Given the description of an element on the screen output the (x, y) to click on. 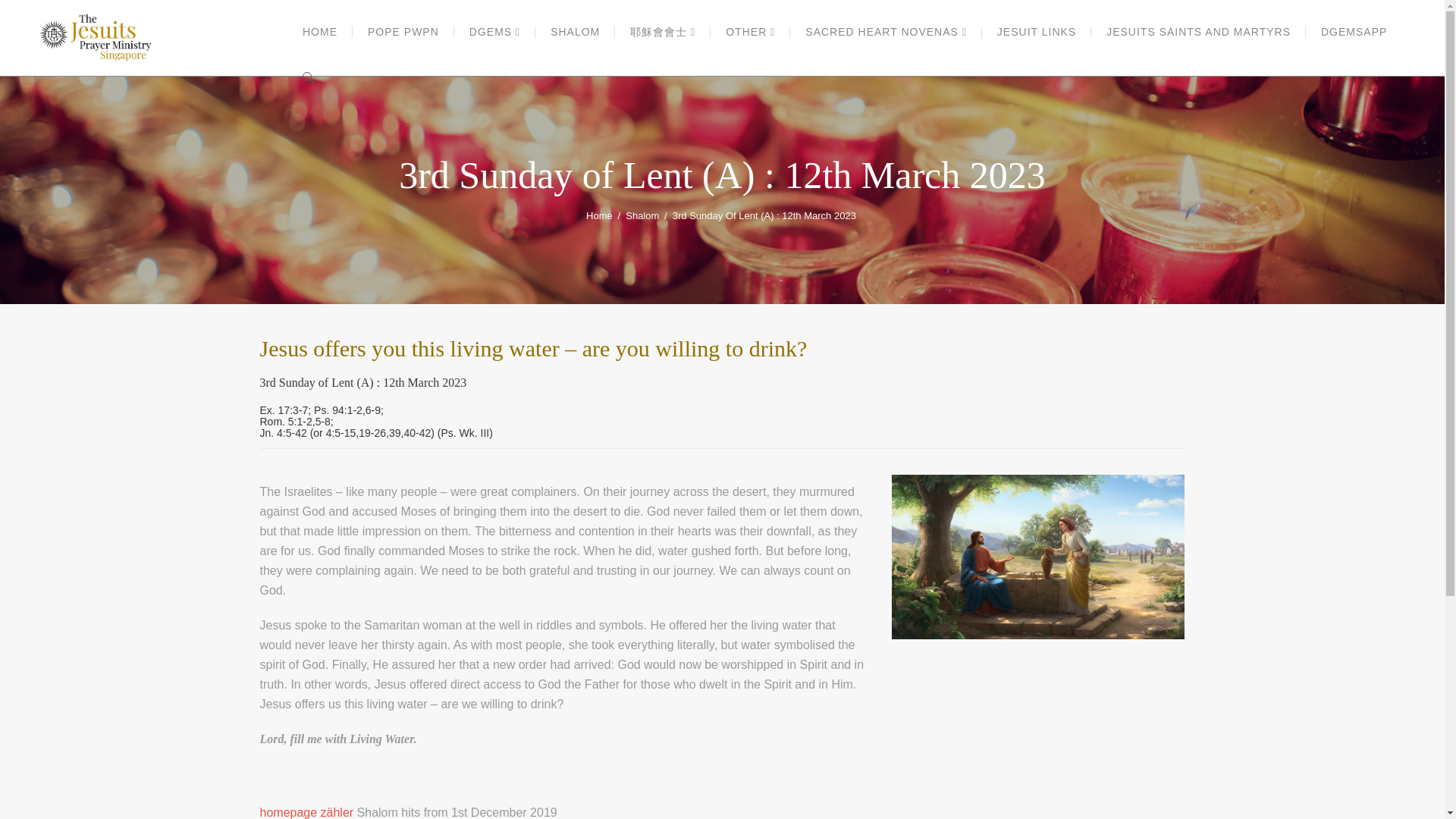
JESUIT LINKS (1036, 31)
HOME (320, 31)
DGEMS (494, 32)
SHALOM (575, 31)
SACRED HEART NOVENAS (885, 32)
DGEMSAPP (1353, 31)
POPE PWPN (402, 31)
Search (1177, 43)
samaritan-woman-well (1038, 557)
OTHER (750, 32)
JESUITS SAINTS AND MARTYRS (1198, 31)
